Given the description of an element on the screen output the (x, y) to click on. 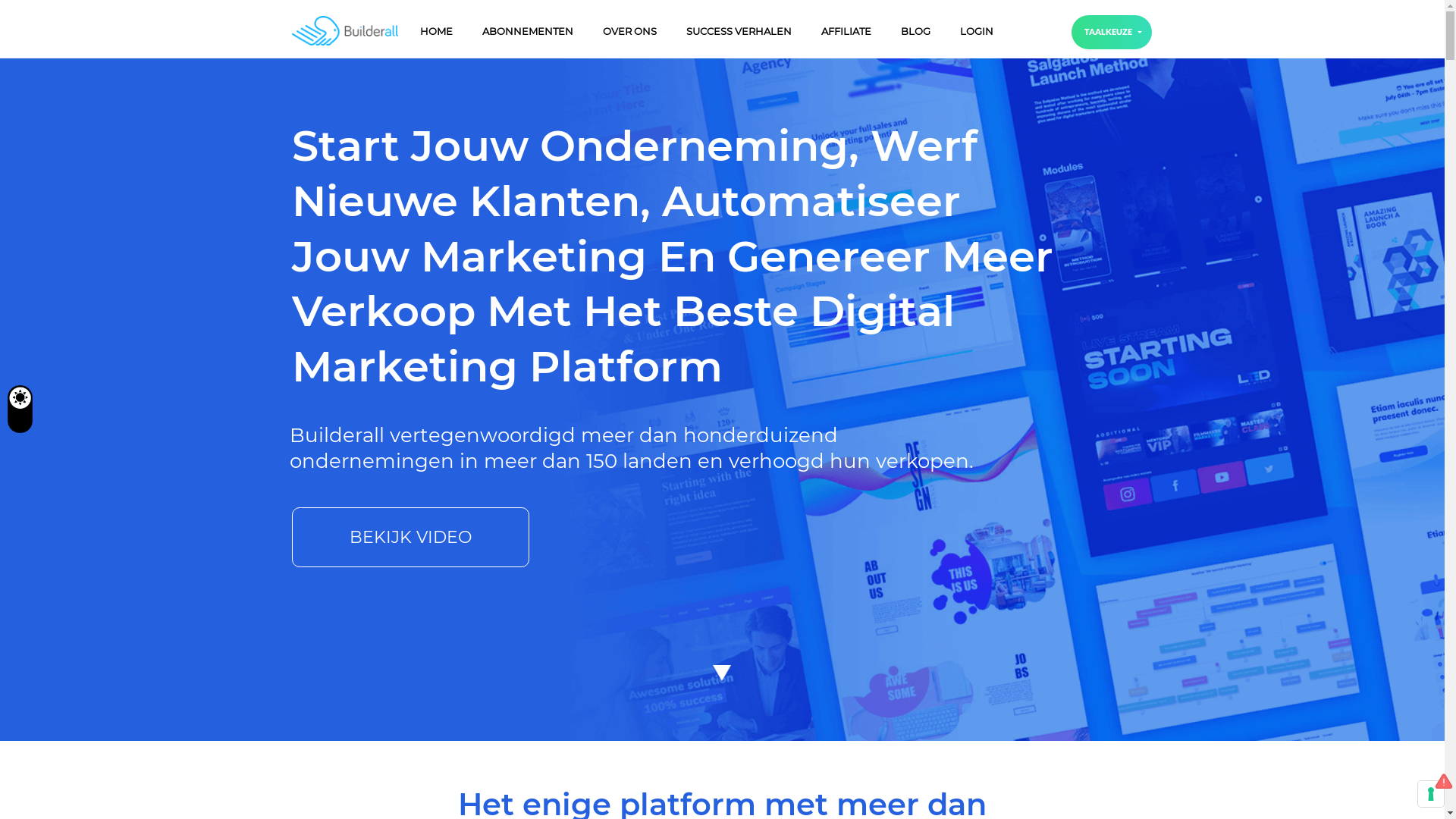
HOME Element type: text (436, 31)
LOGIN Element type: text (976, 31)
ABONNEMENTEN Element type: text (527, 31)
BLOG Element type: text (915, 31)
TAALKEUZE Element type: text (1111, 32)
OVER ONS Element type: text (629, 31)
SUCCESS VERHALEN Element type: text (738, 31)
BEKIJK VIDEO Element type: text (410, 537)
AFFILIATE Element type: text (846, 31)
